Given the description of an element on the screen output the (x, y) to click on. 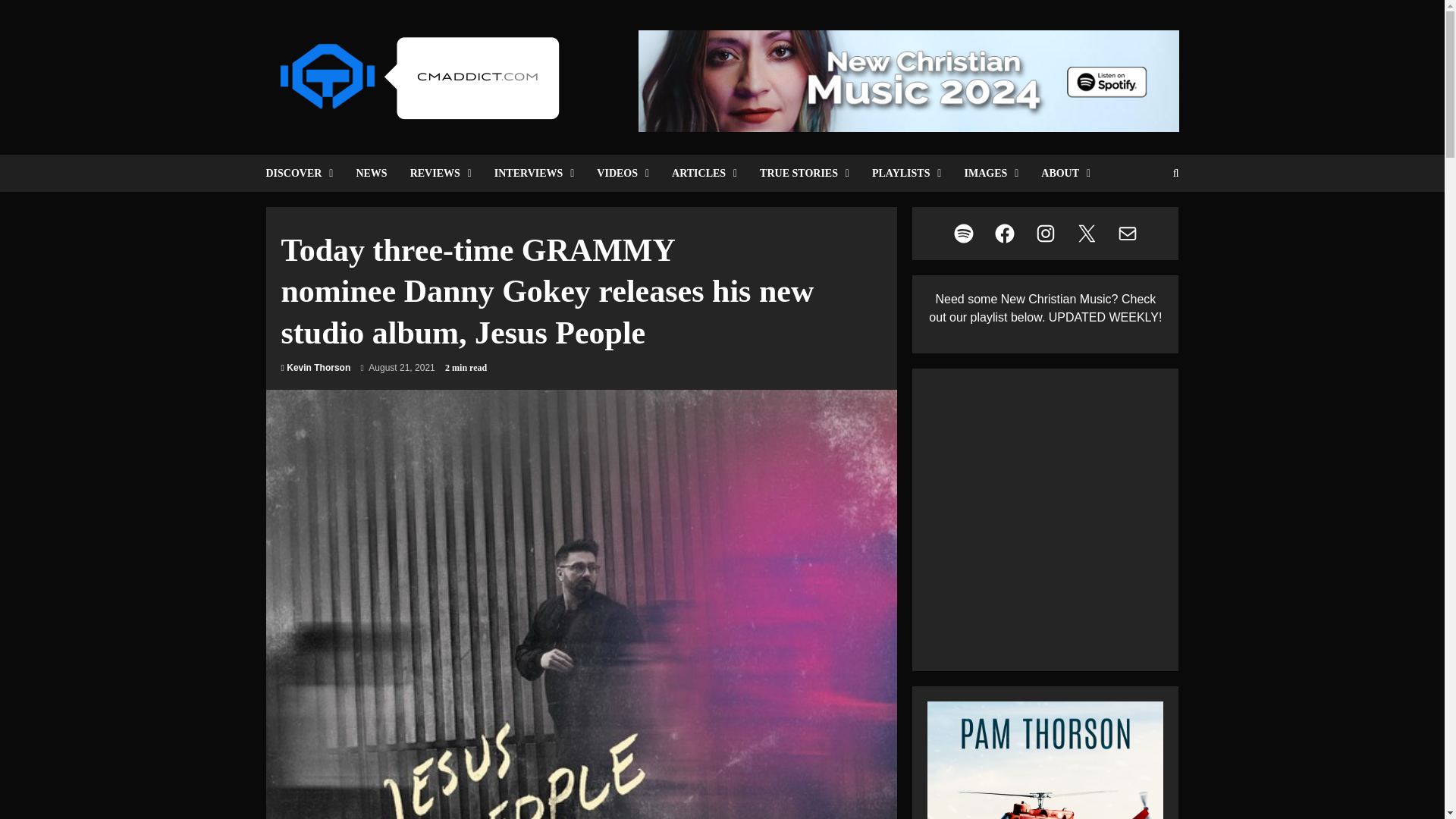
NEWS (370, 172)
REVIEWS (440, 172)
ARTICLES (704, 172)
VIDEOS (623, 172)
DISCOVER (303, 172)
INTERVIEWS (534, 172)
